Given the description of an element on the screen output the (x, y) to click on. 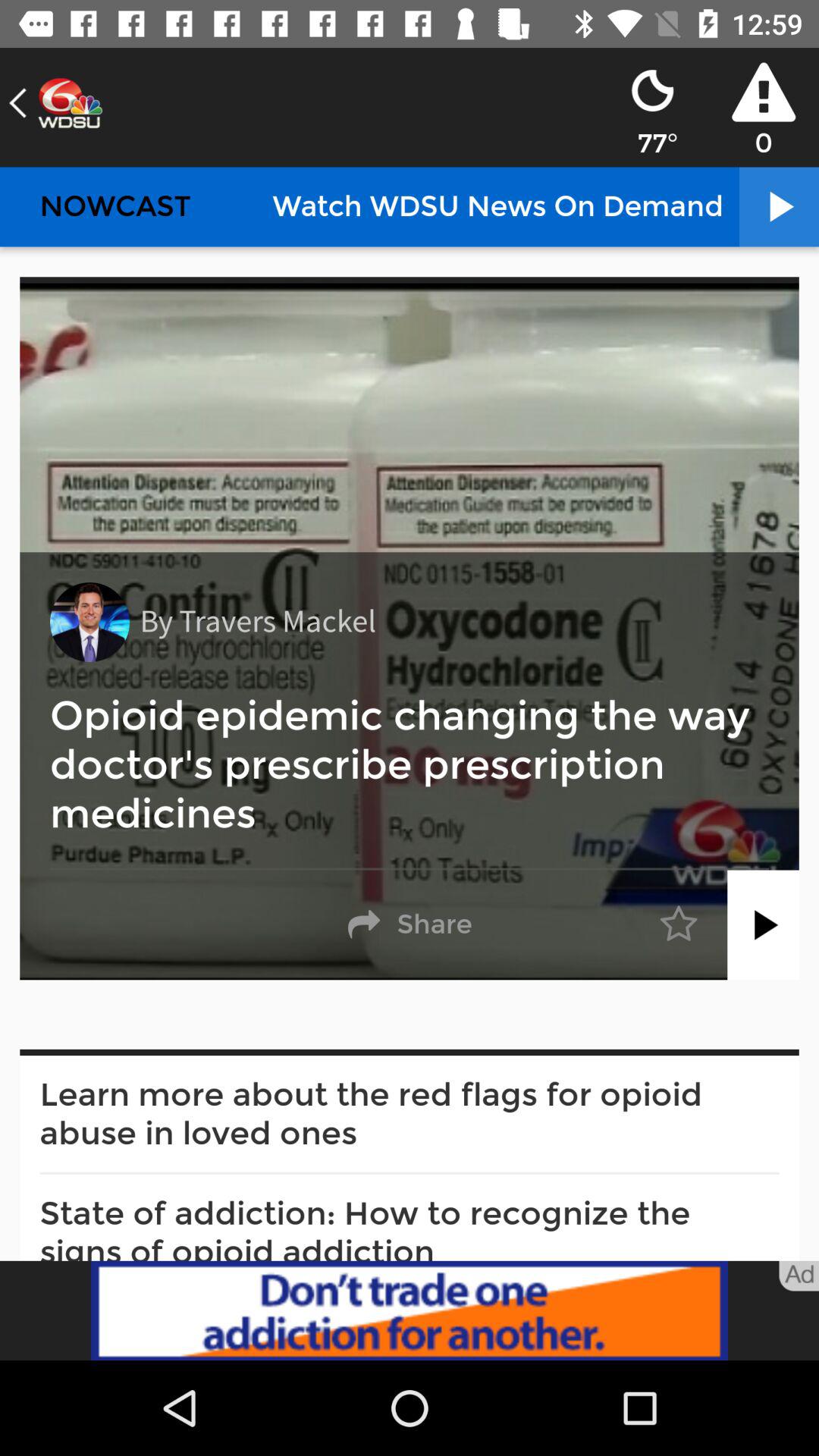
off button (763, 924)
